Given the description of an element on the screen output the (x, y) to click on. 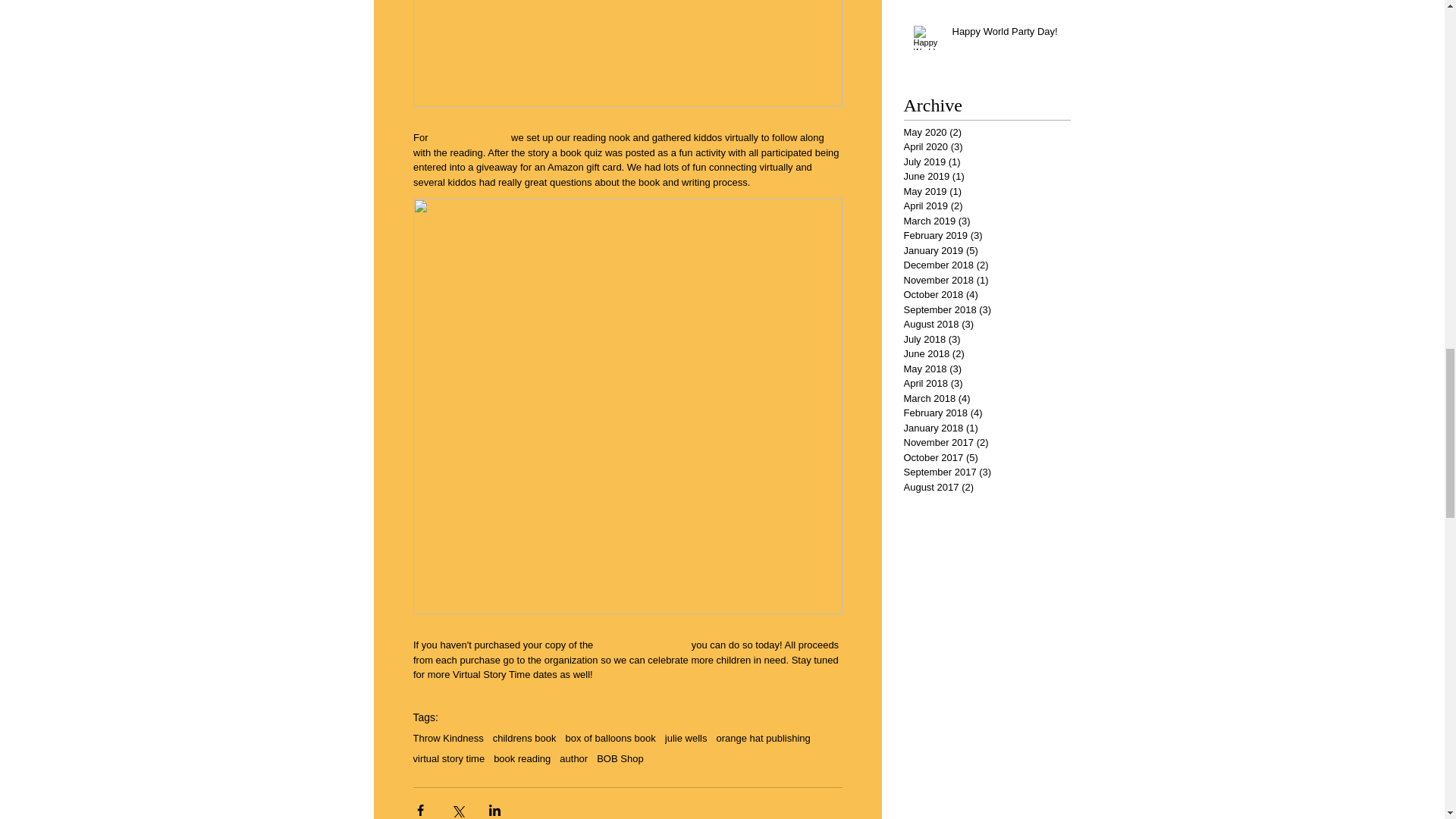
orange hat publishing (762, 737)
box of balloons book (611, 737)
BOB Shop (619, 758)
Box of Balloons book (641, 644)
Virtual Story Time (469, 137)
julie wells (686, 737)
author (573, 758)
Throw Kindness (447, 737)
virtual story time (448, 758)
childrens book (524, 737)
book reading (521, 758)
